Given the description of an element on the screen output the (x, y) to click on. 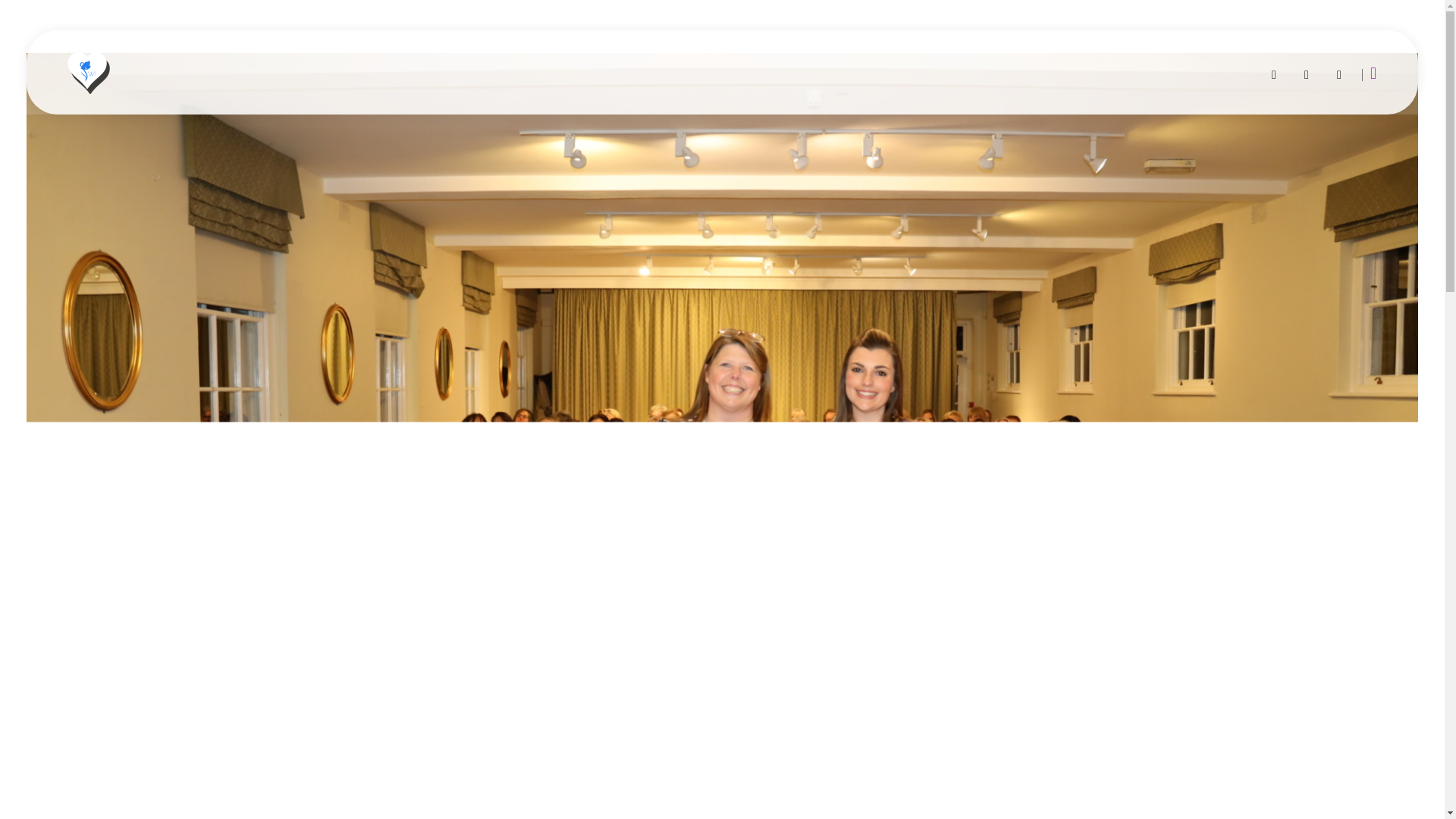
Great Bookham Belles (156, 105)
Great Bookham Belles (87, 70)
Great Bookham Belles (156, 105)
